Given the description of an element on the screen output the (x, y) to click on. 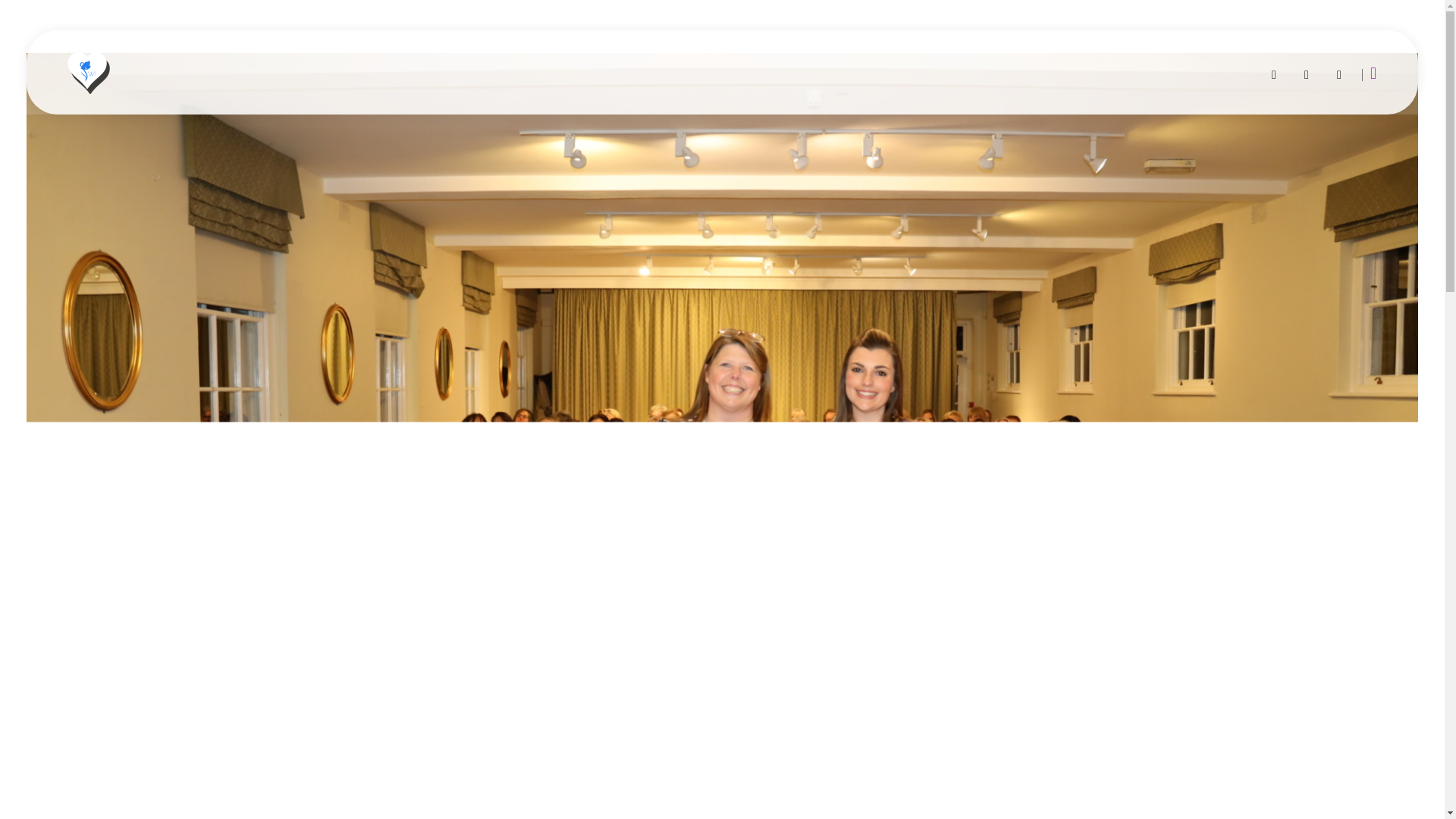
Great Bookham Belles (156, 105)
Great Bookham Belles (87, 70)
Great Bookham Belles (156, 105)
